Given the description of an element on the screen output the (x, y) to click on. 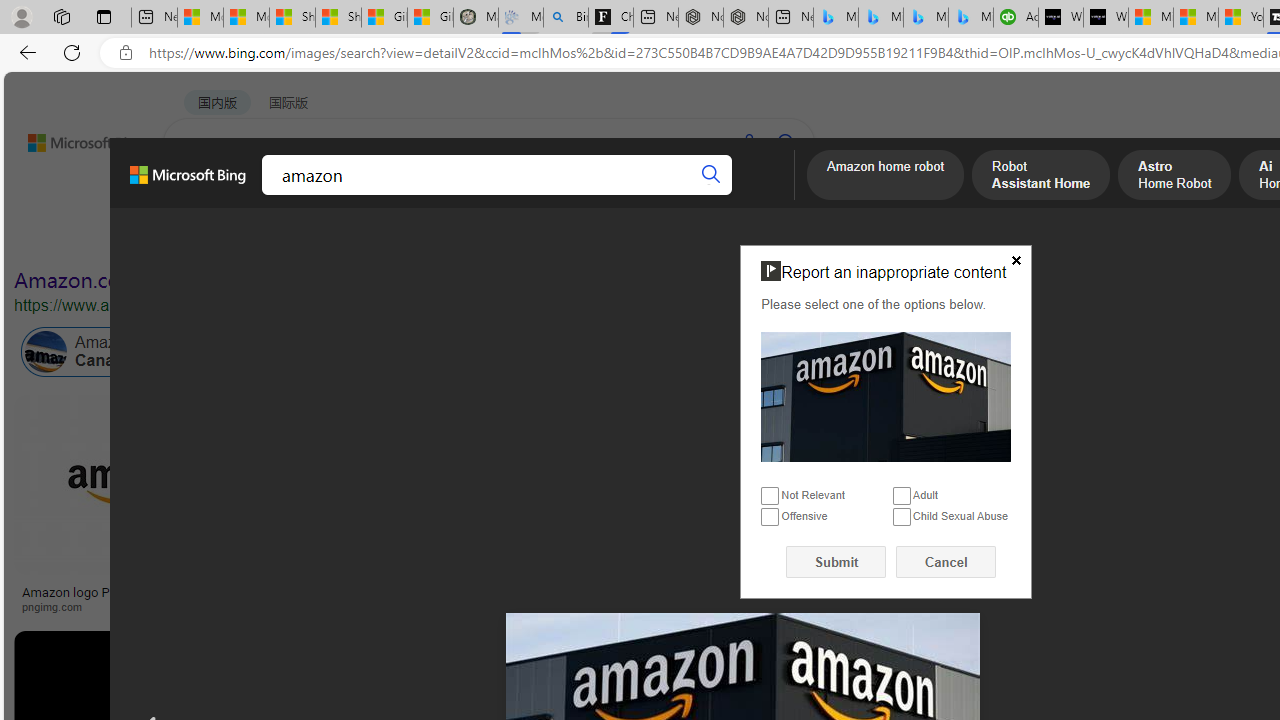
Search using voice (748, 142)
ACADEMIC (548, 195)
Astro Home Robot (1174, 177)
Date (591, 237)
Submit (836, 561)
